Given the description of an element on the screen output the (x, y) to click on. 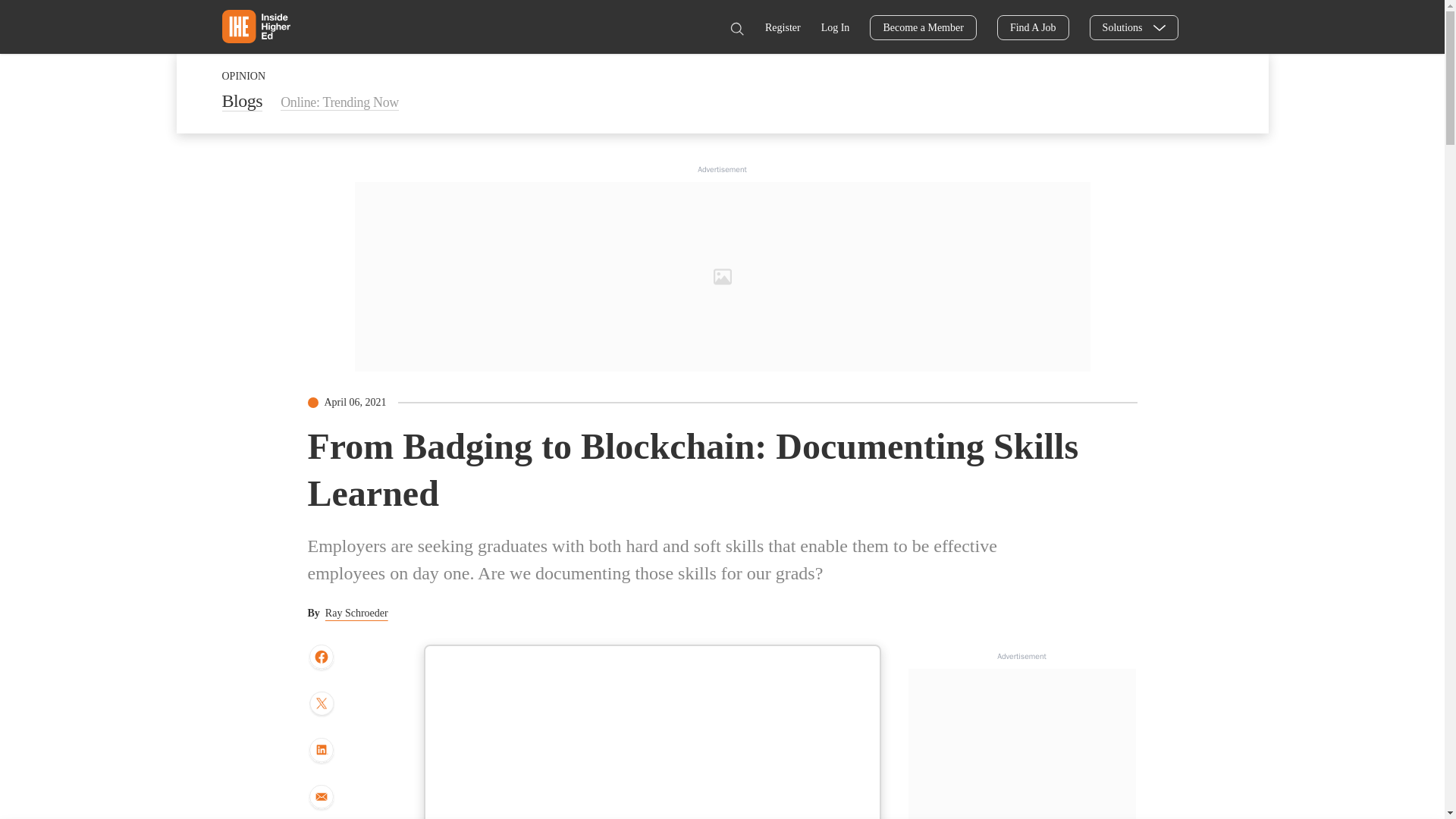
share to facebook (320, 657)
Home (255, 26)
Search (736, 28)
share to twitter (320, 705)
Find A Job (1032, 27)
share by email (320, 797)
Become a Member (922, 27)
share to Linkedin (320, 750)
